Given the description of an element on the screen output the (x, y) to click on. 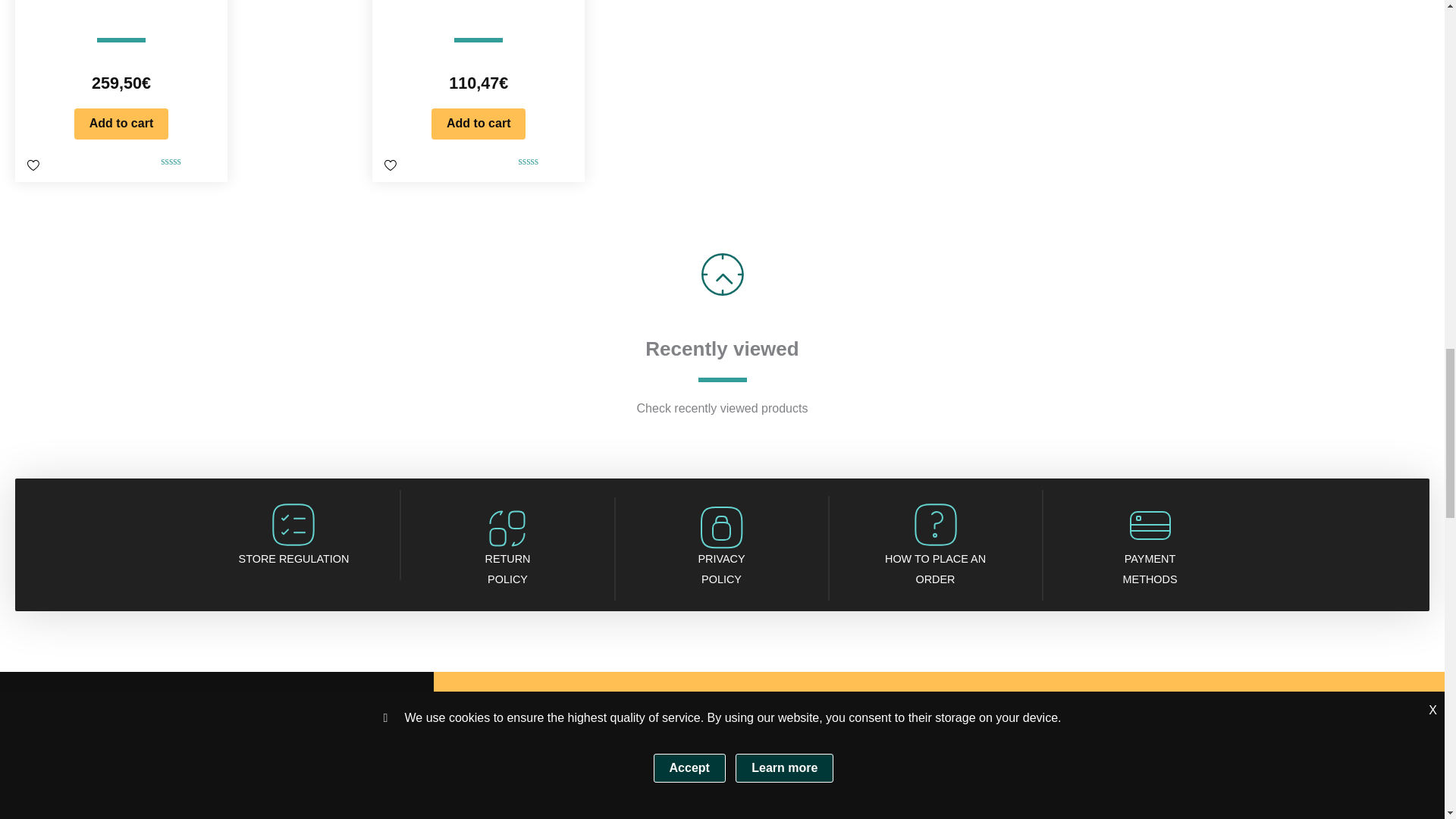
register (365, 766)
